Given the description of an element on the screen output the (x, y) to click on. 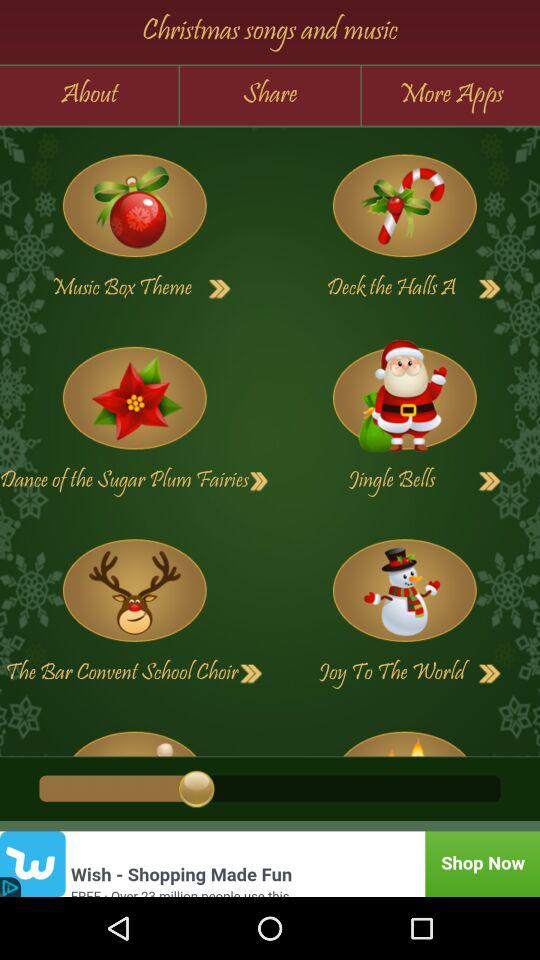
see advertisement (270, 864)
